Given the description of an element on the screen output the (x, y) to click on. 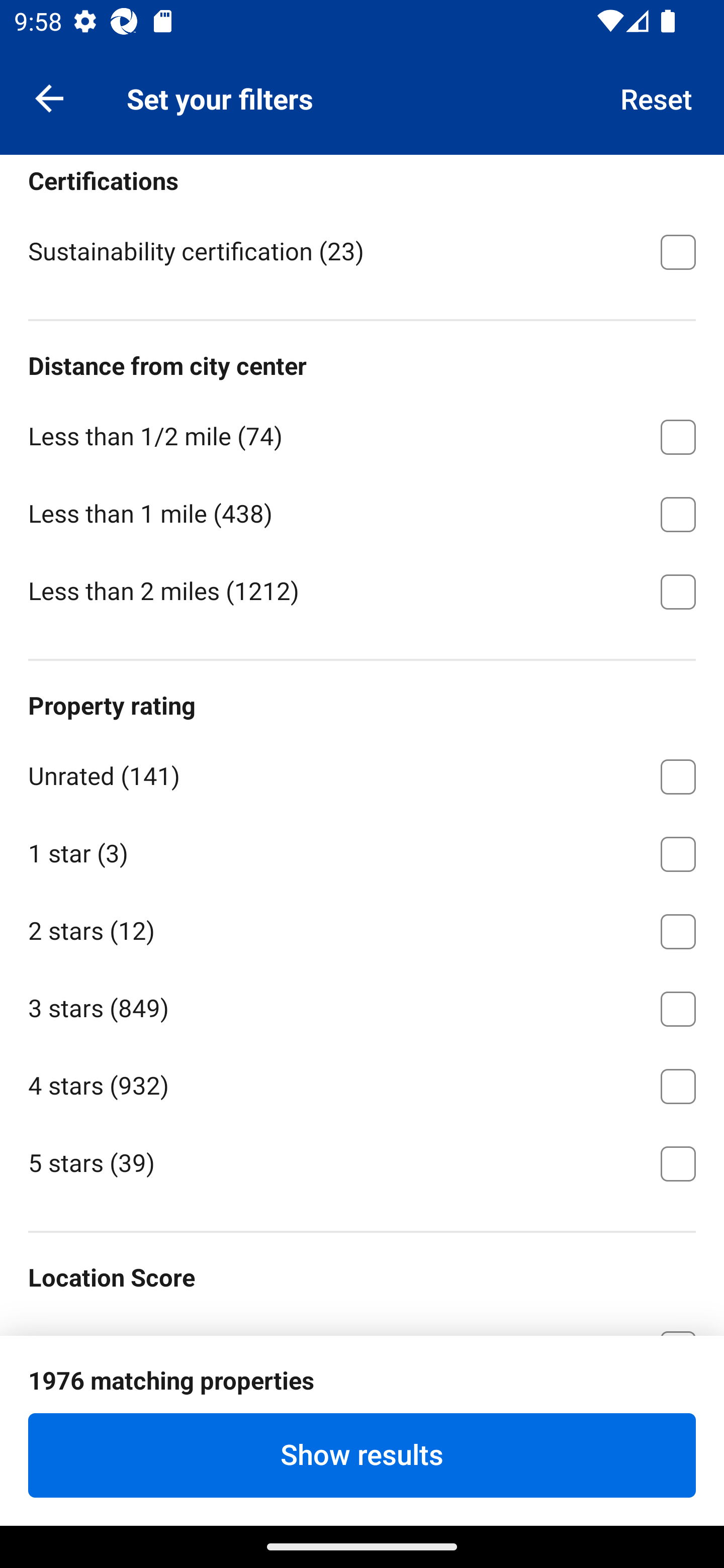
Navigate up (49, 97)
Reset (656, 97)
Sustainability certification ⁦(23) (361, 250)
Less than 1/2 mile ⁦(74) (361, 433)
Less than 1 mile ⁦(438) (361, 510)
Less than 2 miles ⁦(1212) (361, 590)
Unrated ⁦(141) (361, 773)
1 star ⁦(3) (361, 850)
2 stars ⁦(12) (361, 928)
3 stars ⁦(849) (361, 1005)
4 stars ⁦(932) (361, 1082)
5 stars ⁦(39) (361, 1161)
Show results (361, 1454)
